Given the description of an element on the screen output the (x, y) to click on. 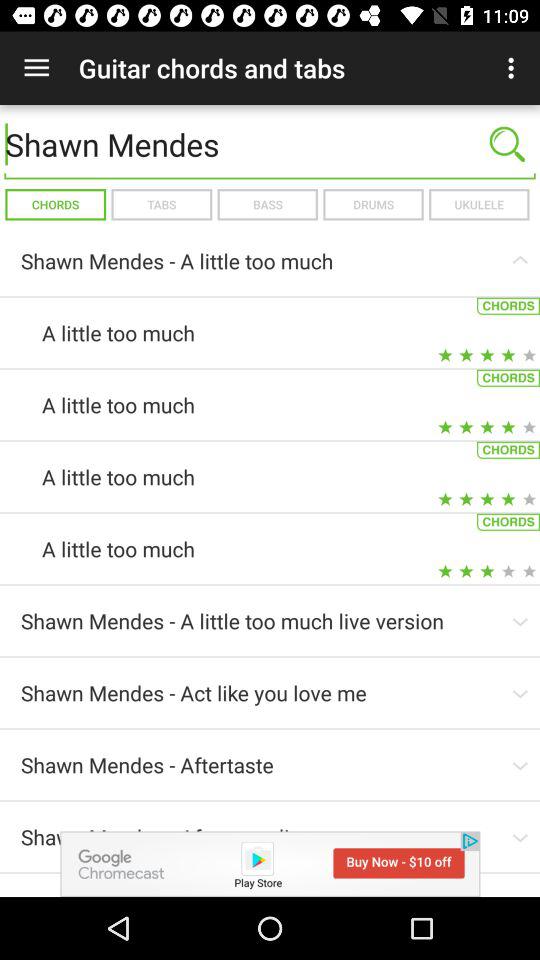
make add (270, 864)
